Given the description of an element on the screen output the (x, y) to click on. 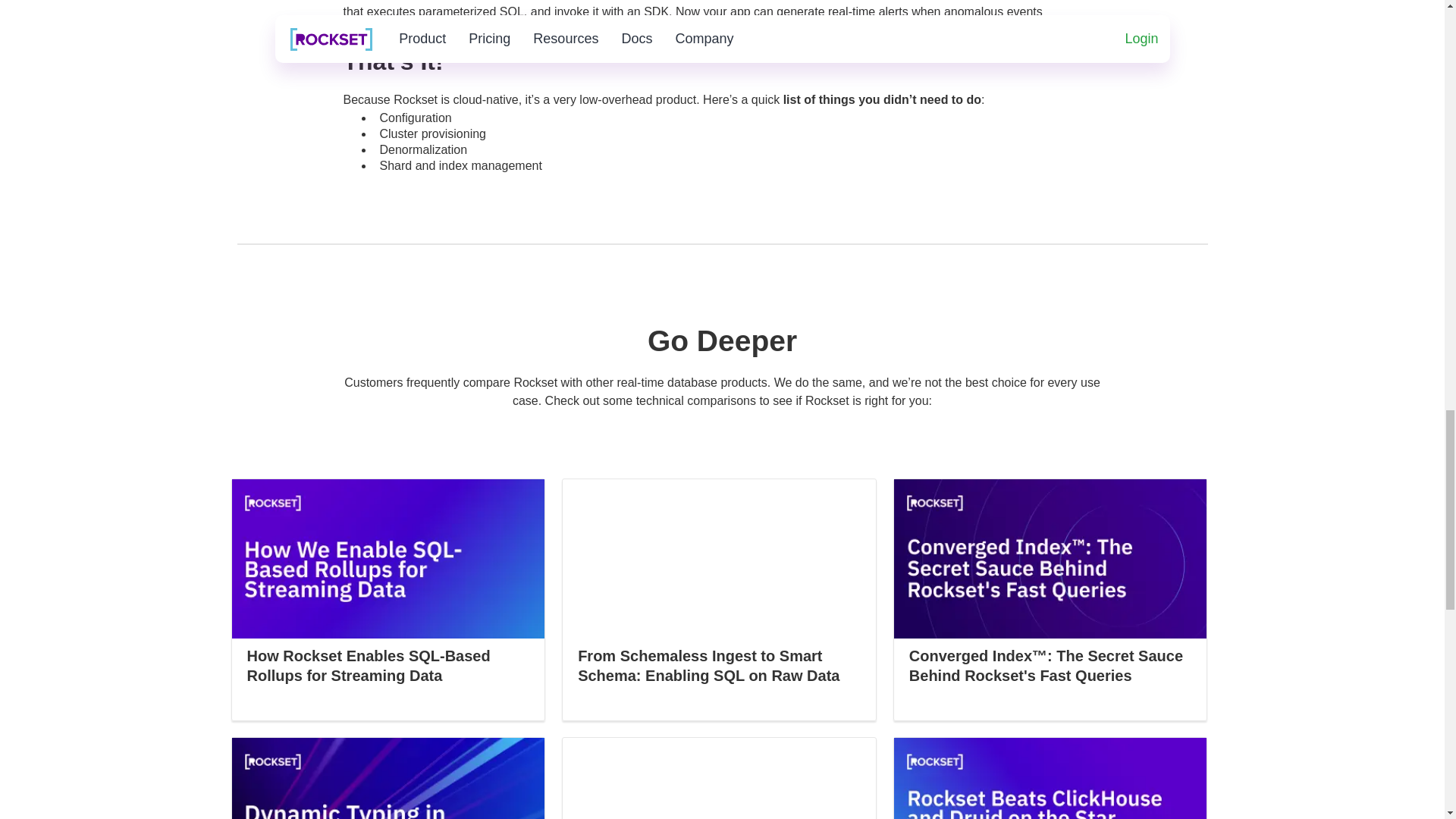
Dynamic Typing in SQL (387, 778)
How Rockset Enables SQL-Based Rollups for Streaming Data (387, 582)
